Given the description of an element on the screen output the (x, y) to click on. 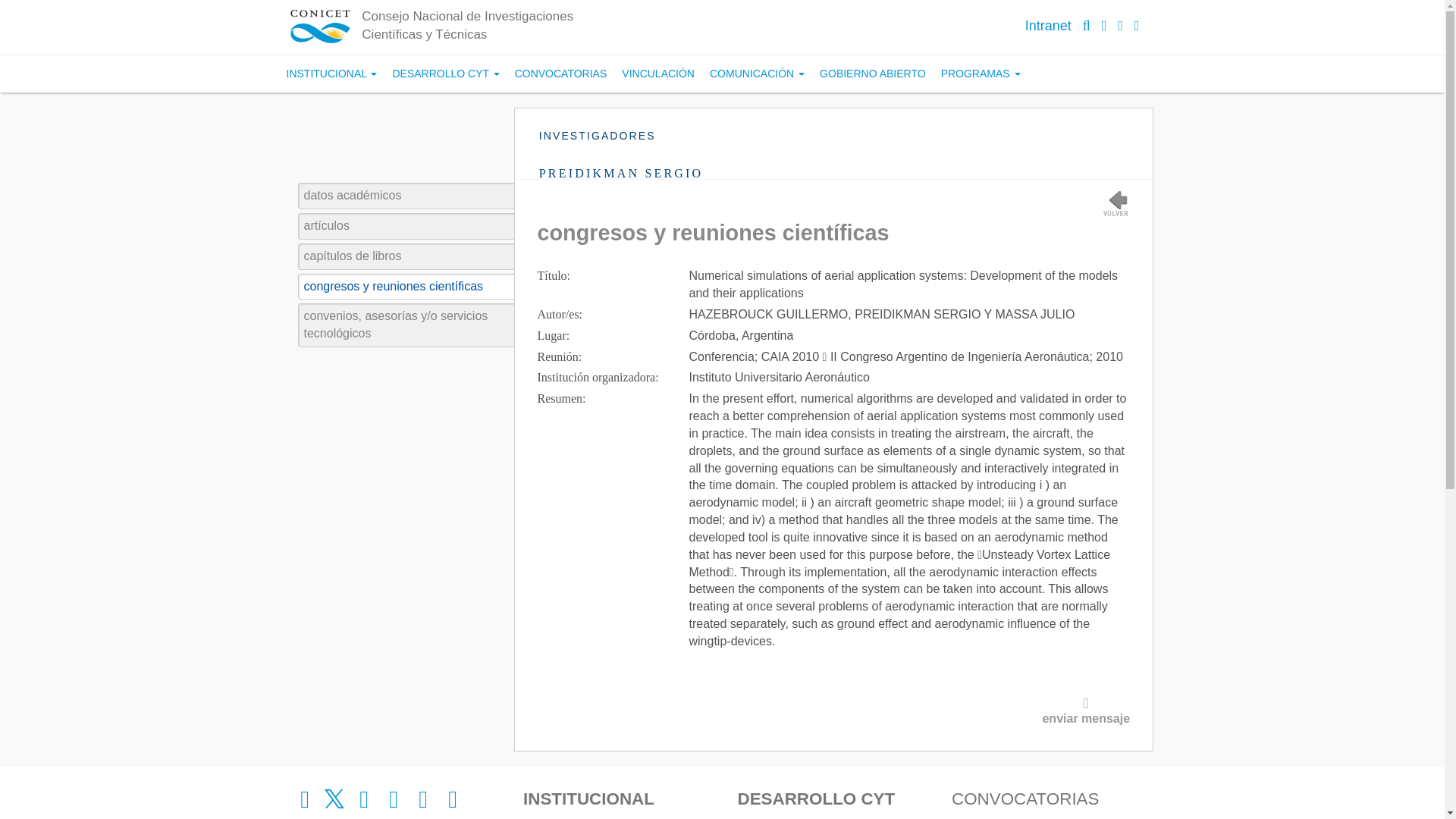
PROGRAMAS (980, 73)
DESARROLLO CYT (445, 73)
INSTITUCIONAL (332, 73)
CONVOCATORIAS (560, 73)
Intranet (1048, 25)
GOBIERNO ABIERTO (872, 73)
